Given the description of an element on the screen output the (x, y) to click on. 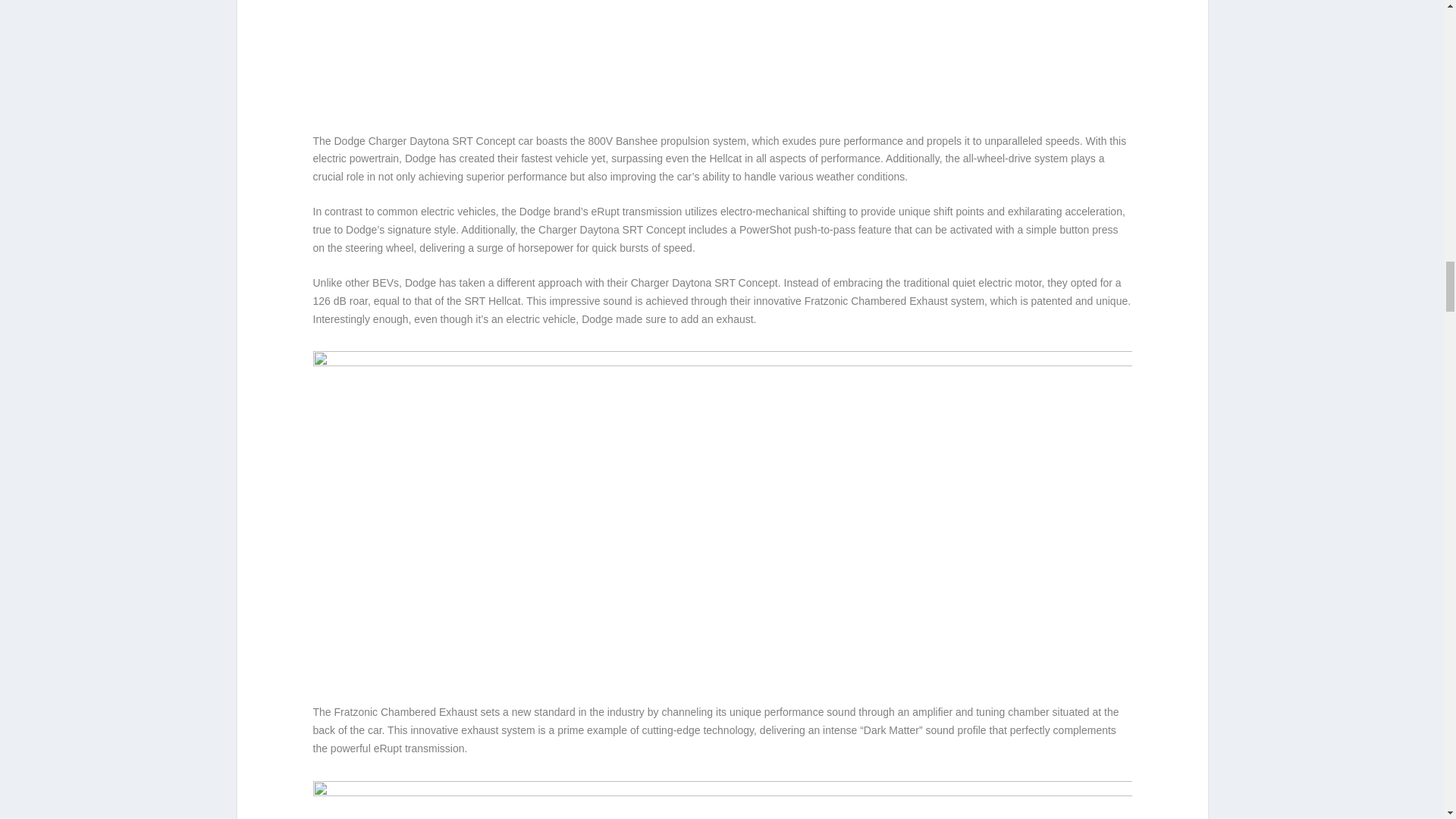
2023 Concept Dodge Charger Daytona SRT EV-4 (722, 47)
2023 Concept Dodge Charger Daytona SRT EV-12 (722, 800)
